Given the description of an element on the screen output the (x, y) to click on. 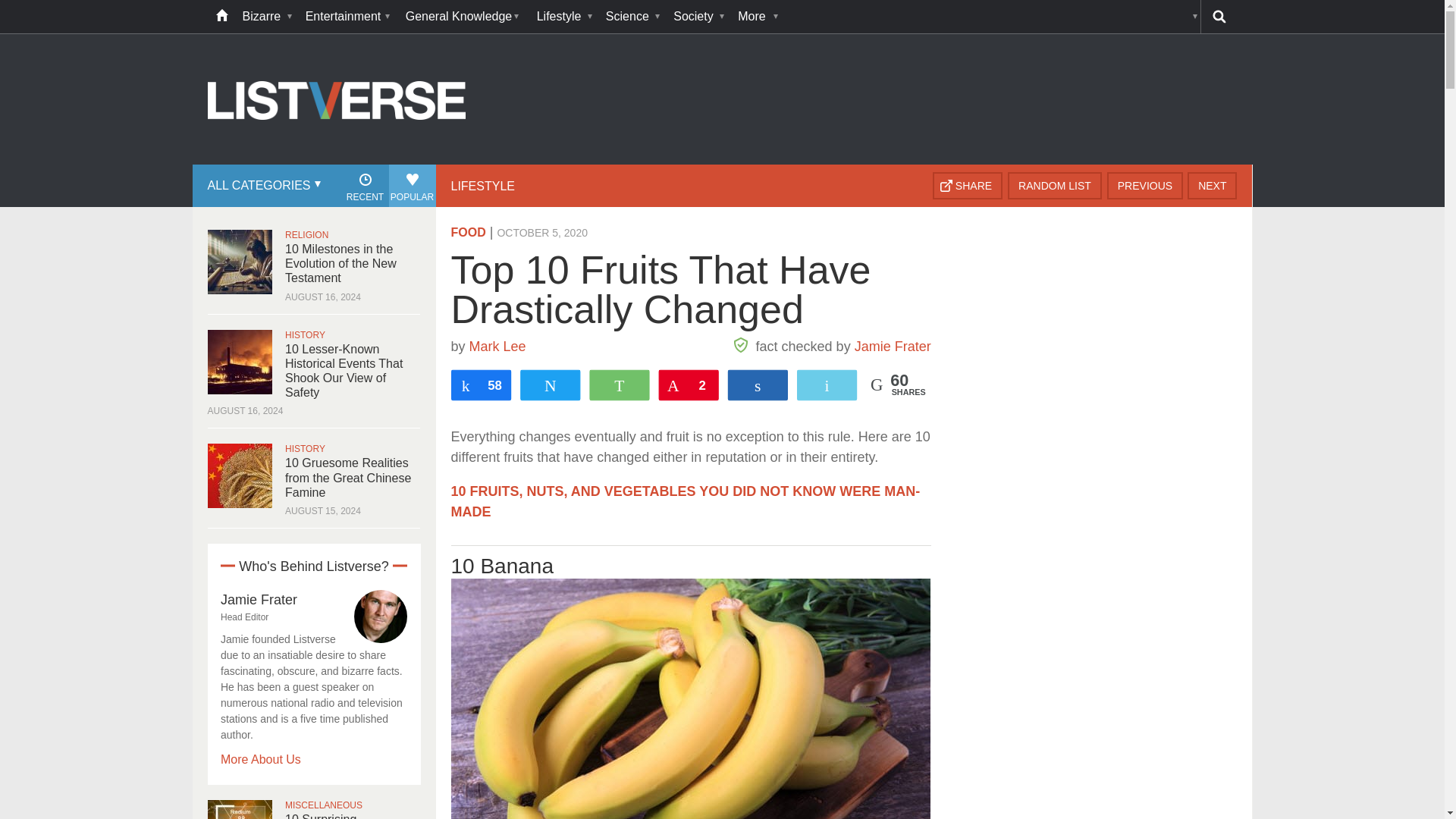
Go to Home (336, 162)
Bizarre (266, 16)
Share (968, 185)
All Categories (262, 185)
Entertainment (347, 16)
Popular (411, 185)
Recent (364, 185)
Society (697, 16)
More (756, 16)
General Knowledge (462, 16)
